Given the description of an element on the screen output the (x, y) to click on. 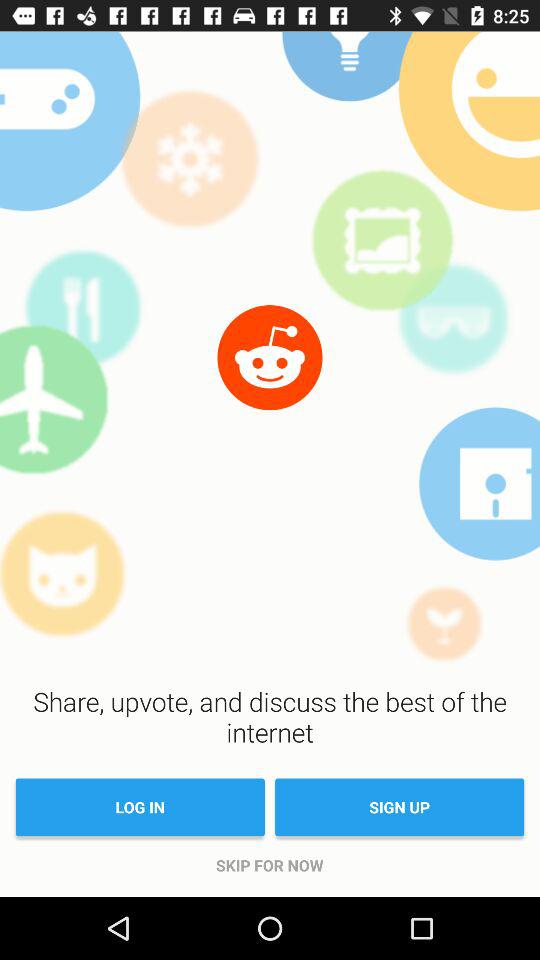
click the log in icon (140, 807)
